Given the description of an element on the screen output the (x, y) to click on. 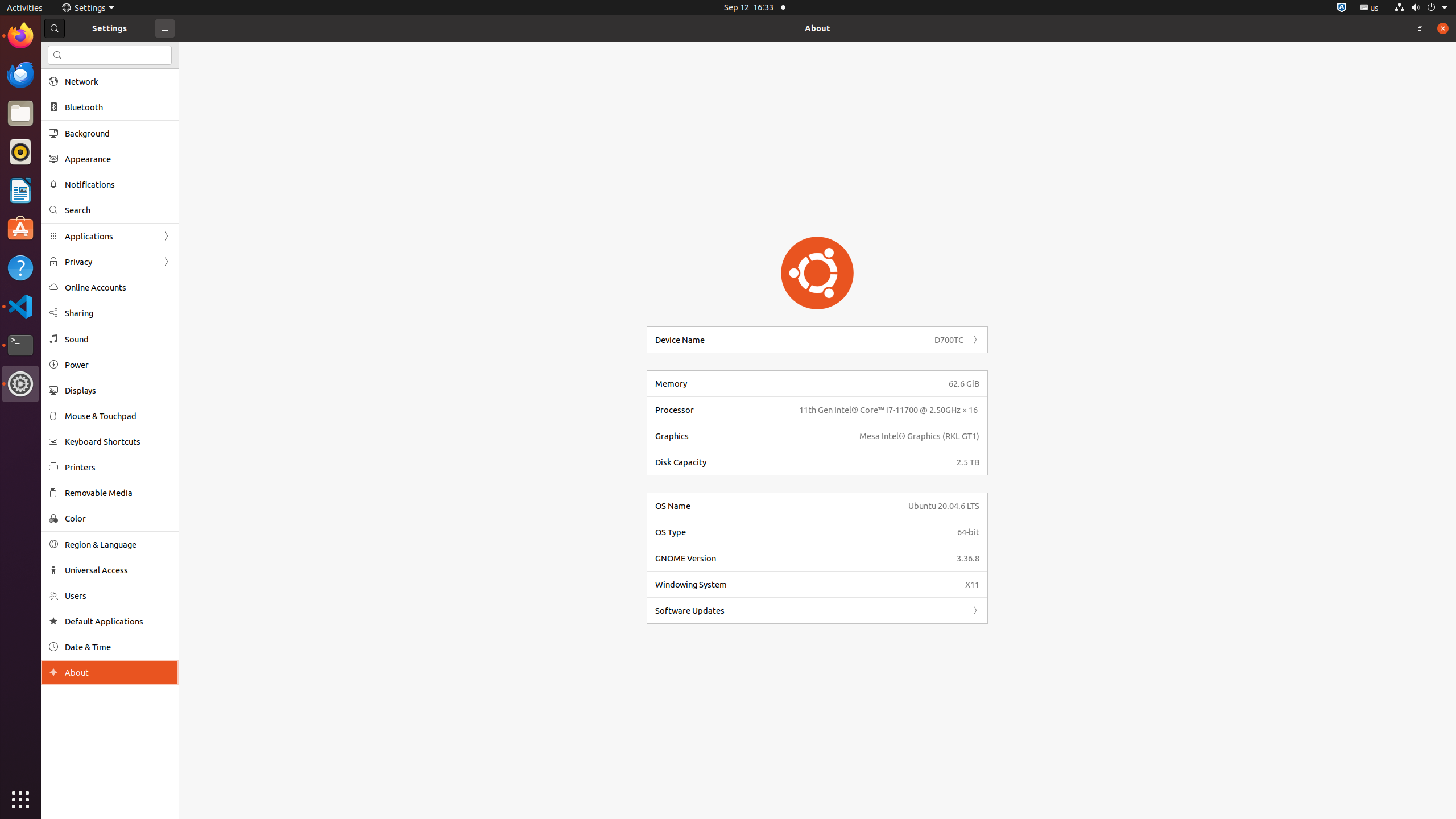
Date & Time Element type: label (117, 646)
2.5 TB Element type: label (967, 461)
Settings Element type: push-button (20, 383)
Displays Element type: label (117, 390)
